Given the description of an element on the screen output the (x, y) to click on. 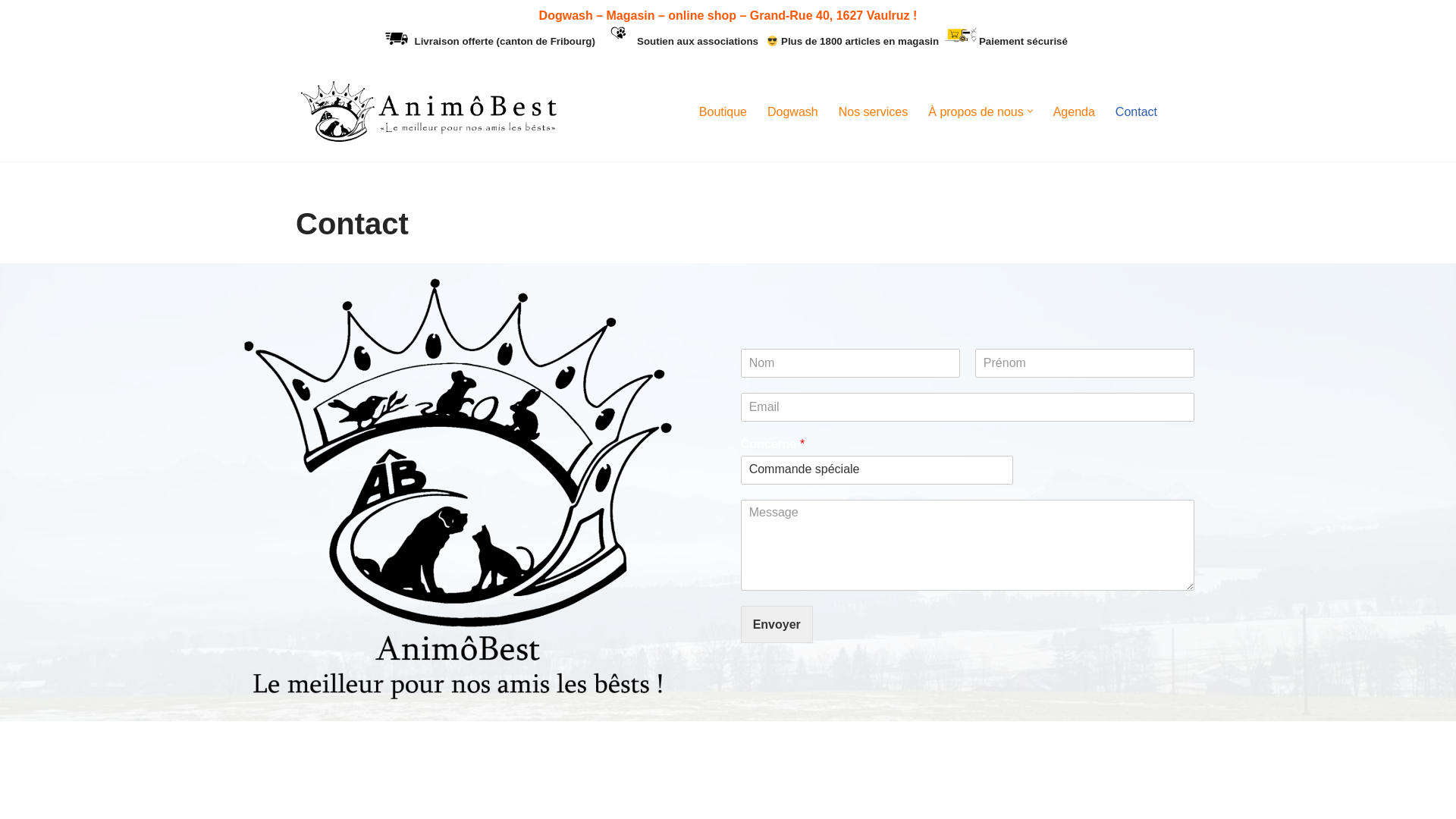
Contact Element type: text (1136, 110)
Nos services Element type: text (873, 110)
Boutique Element type: text (722, 110)
Envoyer Element type: text (776, 624)
Soutien aux associations Element type: text (697, 41)
Dogwash Element type: text (792, 110)
Agenda Element type: text (1074, 110)
Aller au contenu Element type: text (11, 31)
